Given the description of an element on the screen output the (x, y) to click on. 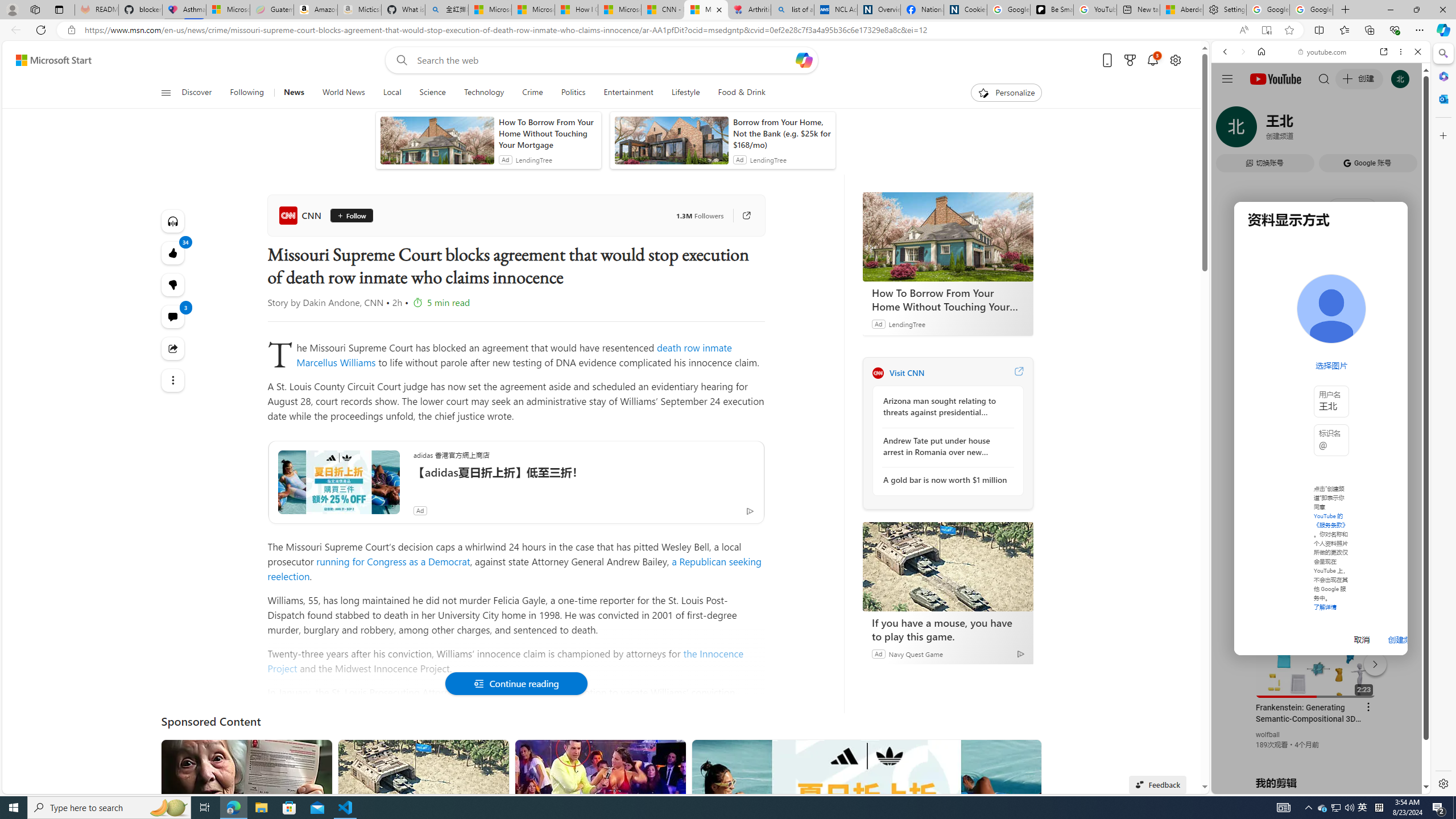
Enter your search term (603, 59)
Share this story (172, 348)
CNN (877, 372)
